Given the description of an element on the screen output the (x, y) to click on. 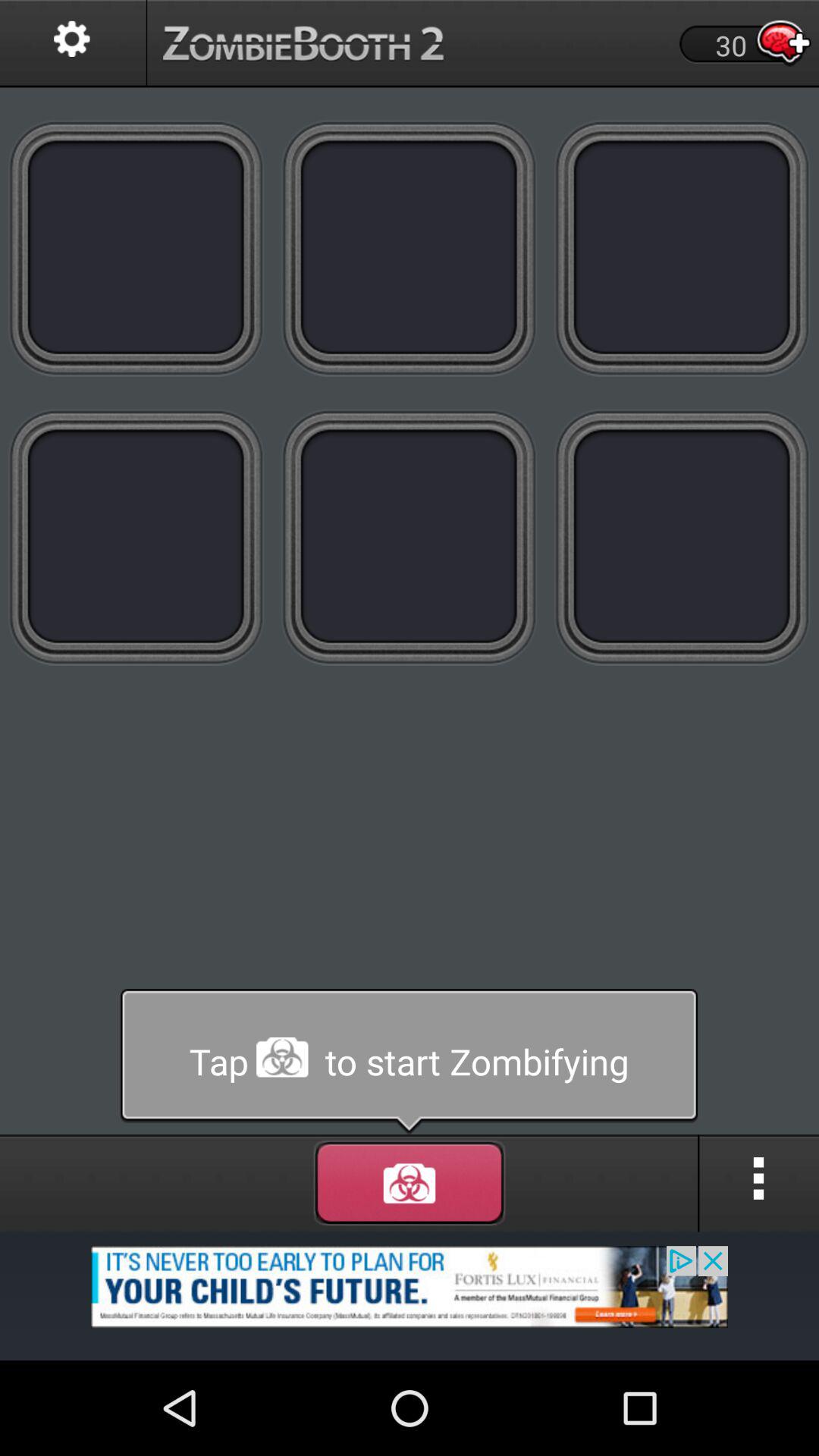
setterin pega (72, 43)
